Given the description of an element on the screen output the (x, y) to click on. 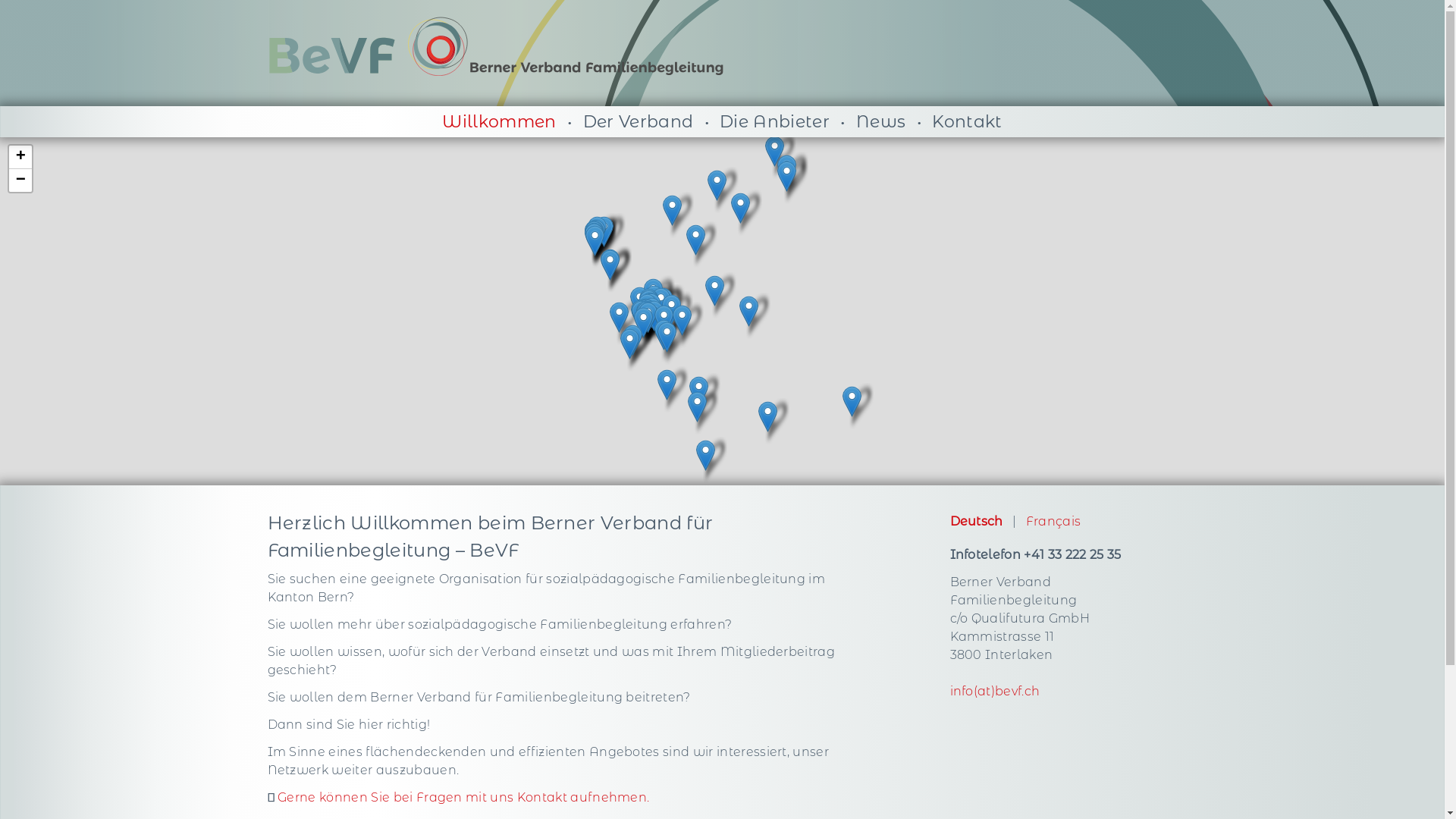
info(at)bevf.ch Element type: text (994, 691)
Willkommen Element type: text (498, 121)
Die Anbieter Element type: text (774, 121)
Der Verband Element type: text (638, 121)
+ Element type: text (20, 157)
Kontakt Element type: text (966, 121)
News Element type: text (880, 121)
Deutsch Element type: text (975, 521)
